Given the description of an element on the screen output the (x, y) to click on. 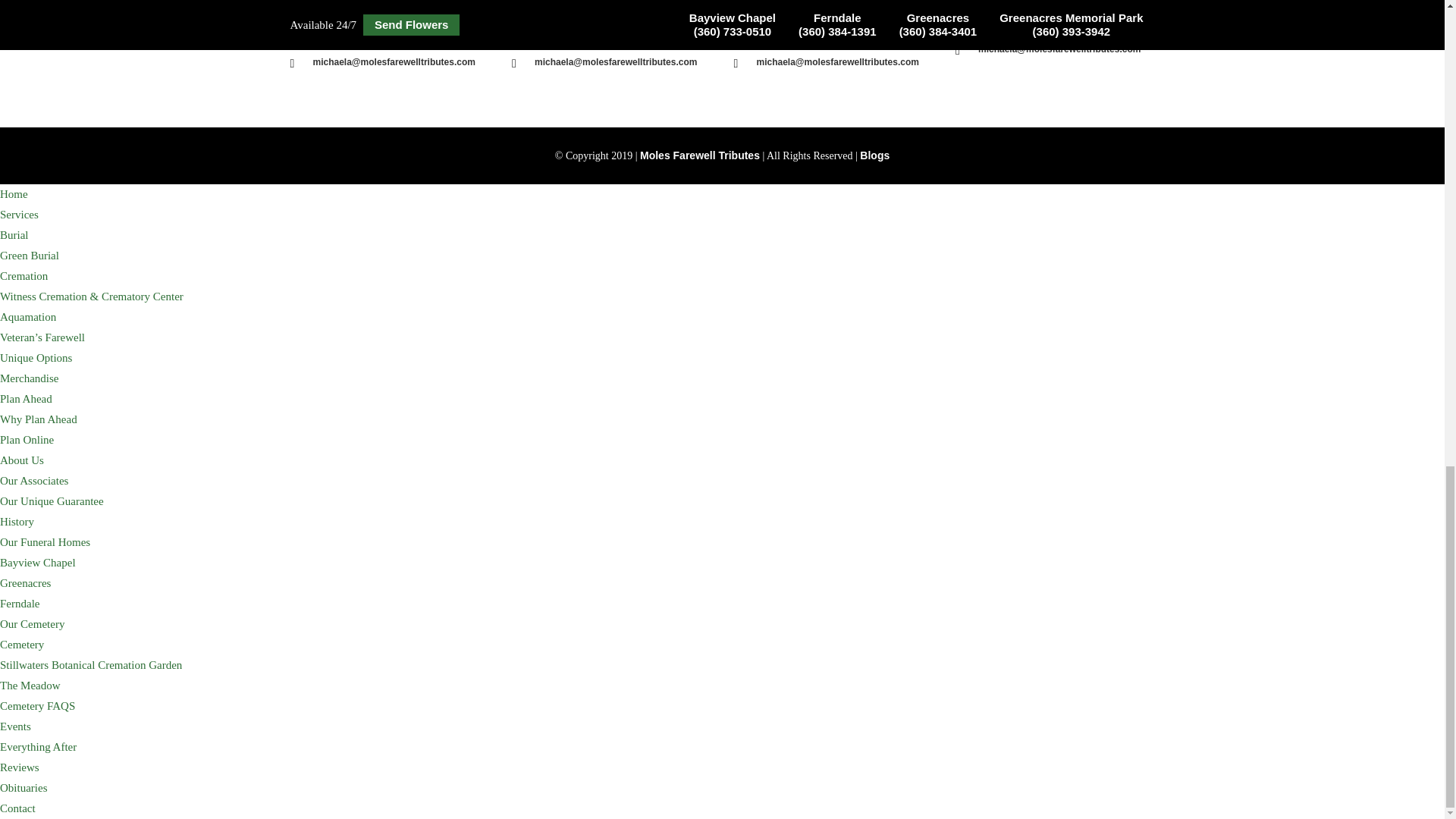
Blogs (874, 155)
Moles Farewell Tributes (700, 155)
